Given the description of an element on the screen output the (x, y) to click on. 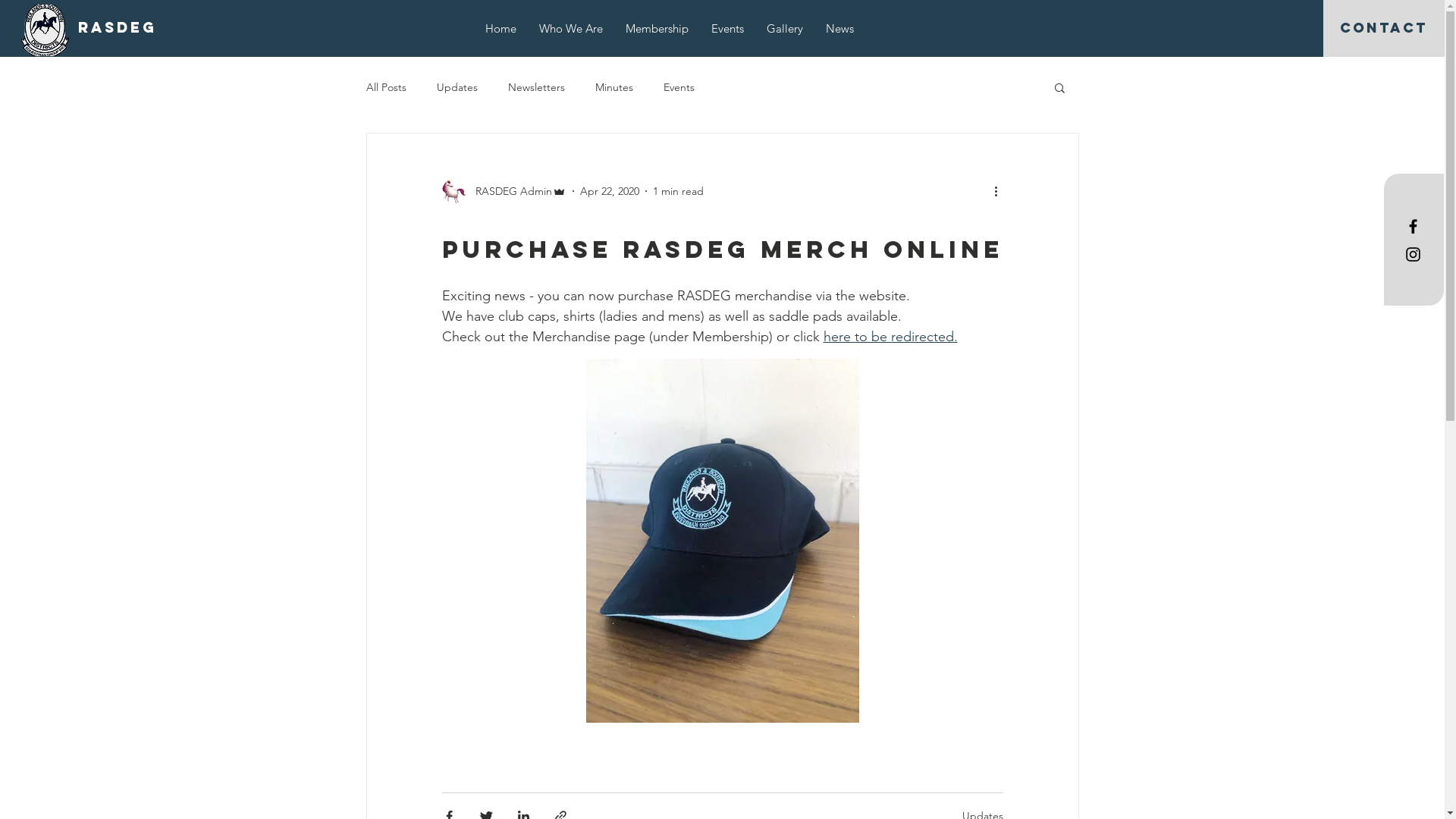
All Posts Element type: text (385, 87)
Events Element type: text (677, 87)
Updates Element type: text (456, 87)
Newsletters Element type: text (536, 87)
CONTACT Element type: text (1383, 28)
Events Element type: text (727, 28)
Gallery Element type: text (784, 28)
Minutes Element type: text (613, 87)
Membership Element type: text (656, 28)
Home Element type: text (500, 28)
Who We Are Element type: text (570, 28)
RASDEG Admin Element type: text (503, 190)
News Element type: text (839, 28)
RASDEG Element type: text (117, 27)
here to be redirected. Element type: text (890, 336)
